Given the description of an element on the screen output the (x, y) to click on. 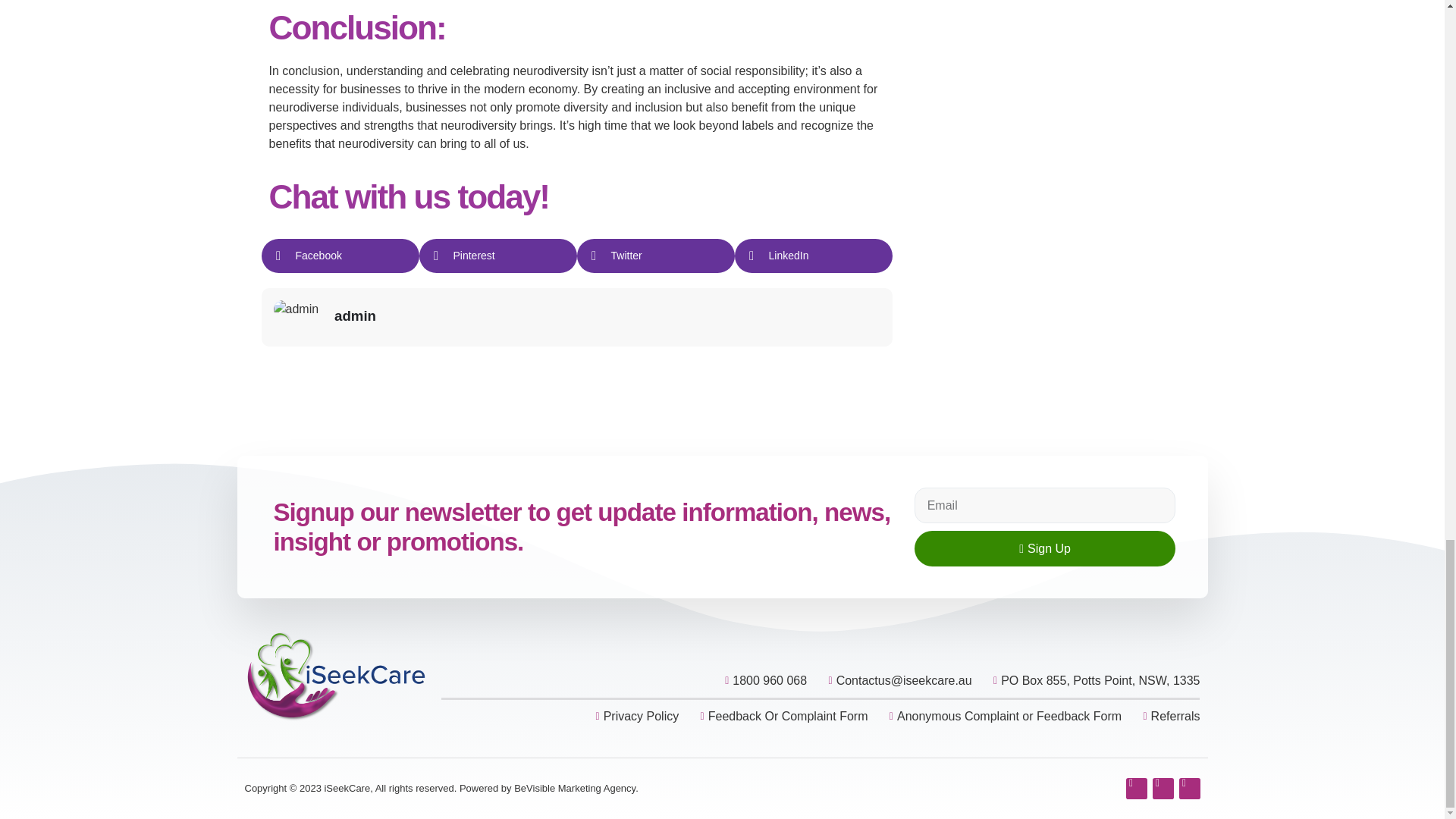
Sign Up (1045, 548)
